Given the description of an element on the screen output the (x, y) to click on. 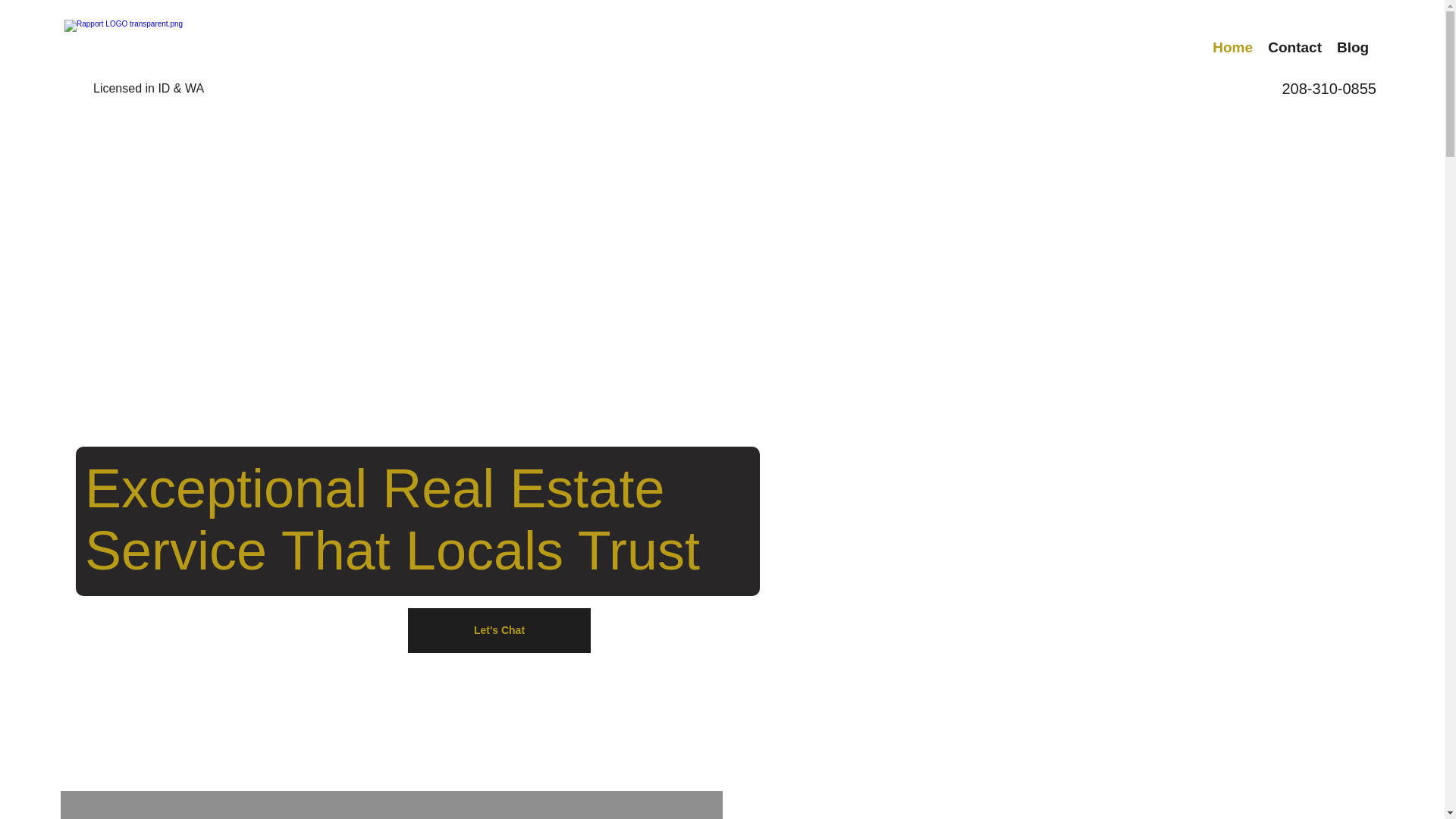
Blog (1352, 47)
Contact (1294, 47)
Home (1232, 47)
Let's Chat (499, 630)
